Given the description of an element on the screen output the (x, y) to click on. 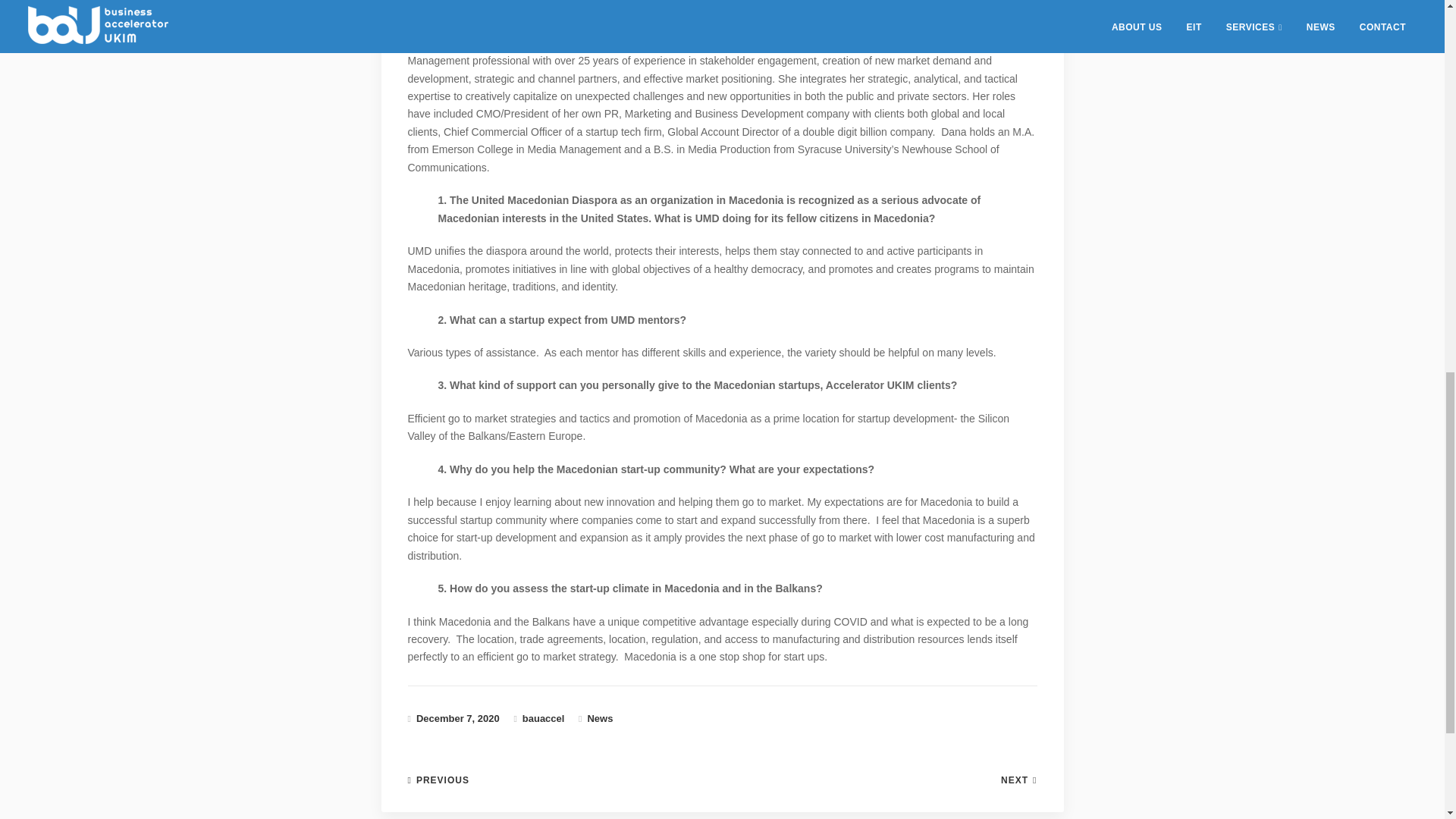
PREVIOUS (437, 779)
Posts by bauaccel (543, 717)
NEXT (1018, 779)
News (599, 717)
bauaccel (543, 717)
